Given the description of an element on the screen output the (x, y) to click on. 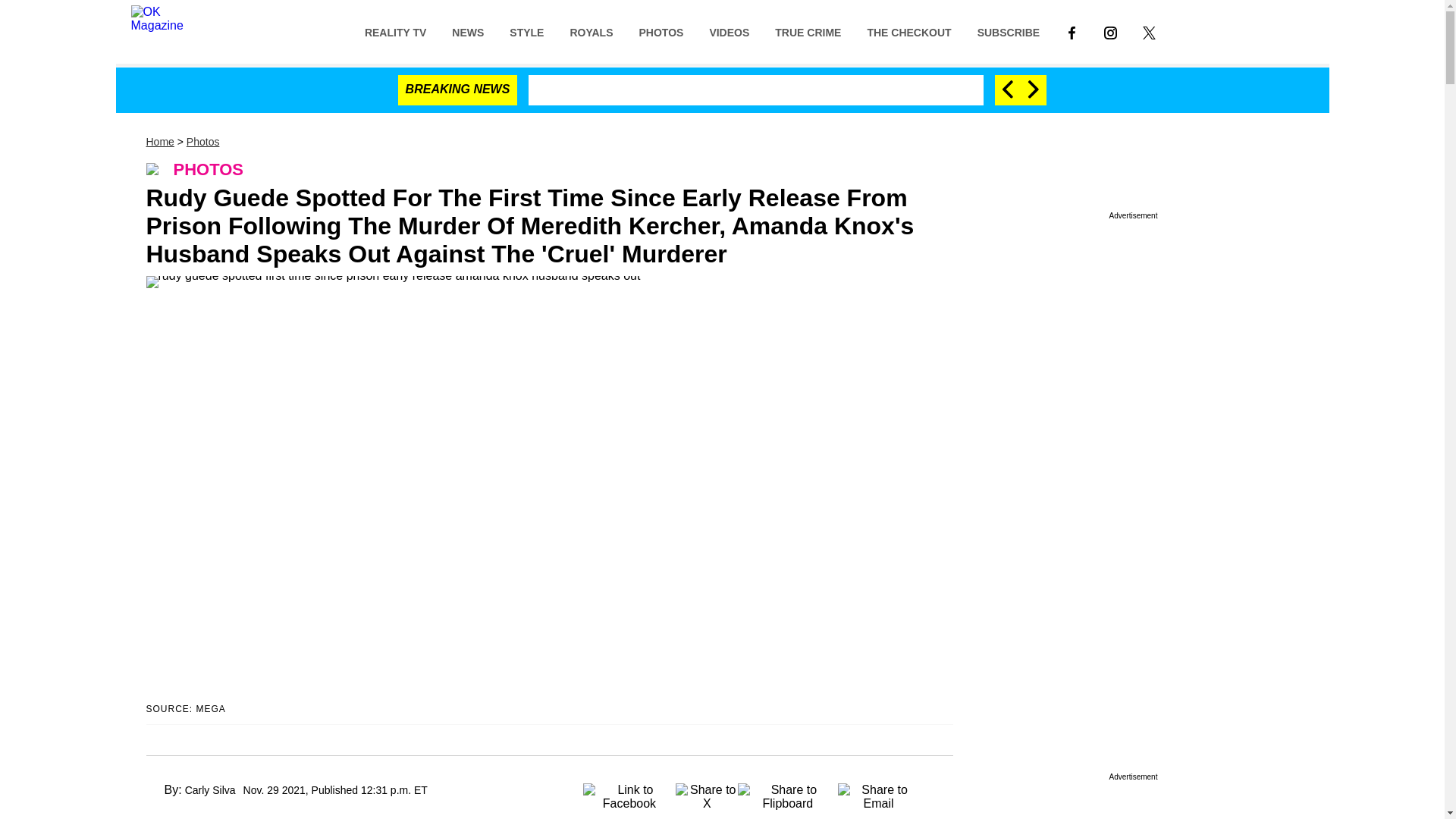
ROYALS (591, 31)
LINK TO INSTAGRAM (1109, 31)
PHOTOS (661, 31)
Link to Facebook (1071, 31)
LINK TO X (1149, 31)
Link to X (1149, 31)
Share to Facebook (628, 791)
STYLE (526, 31)
NEWS (467, 31)
Carly Silva (209, 789)
Share to X (706, 791)
SUBSCRIBE (1007, 31)
REALITY TV (395, 31)
LINK TO INSTAGRAM (1109, 32)
Photos (202, 141)
